Given the description of an element on the screen output the (x, y) to click on. 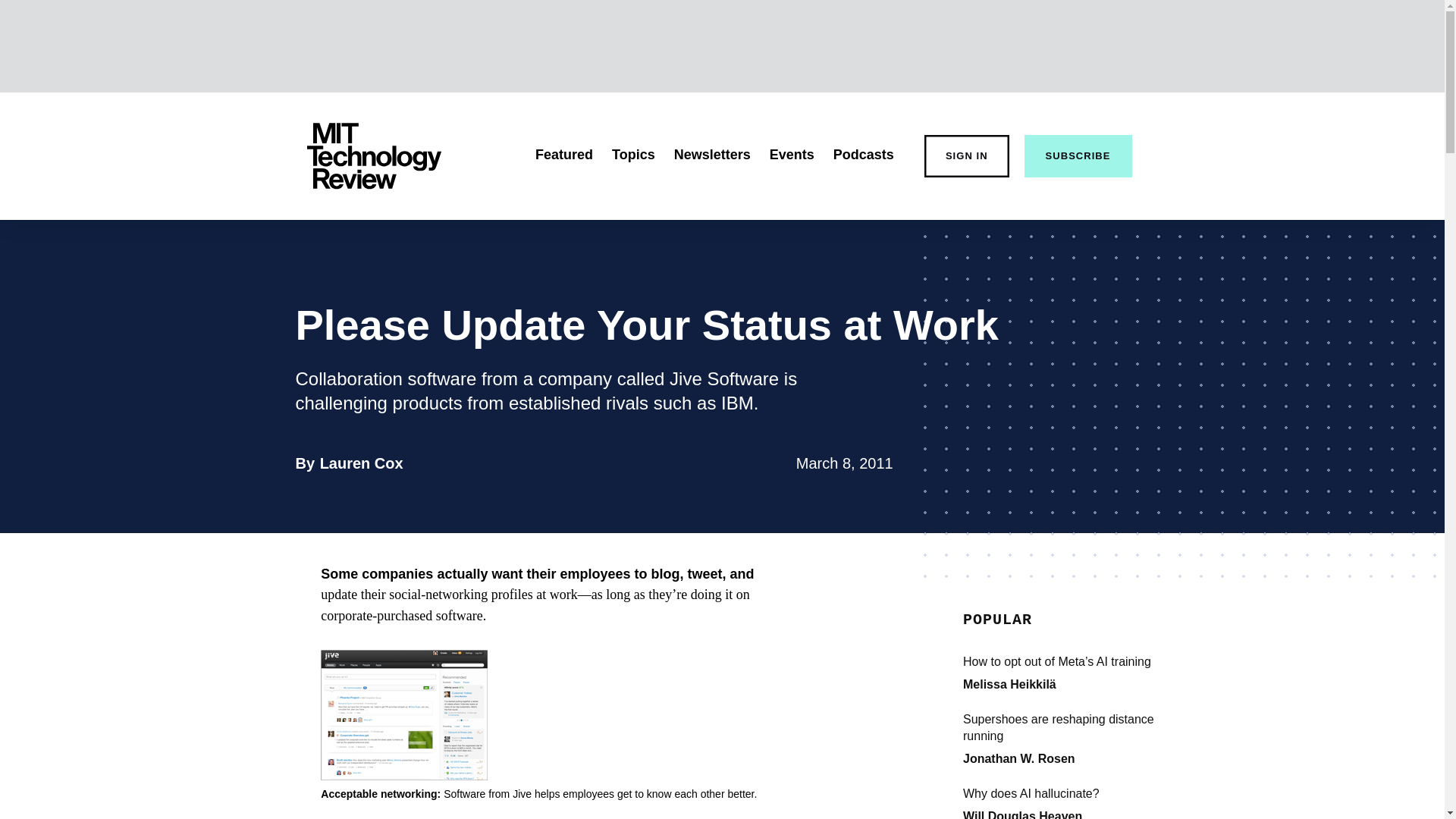
Events (791, 154)
Supershoes are reshaping distance running (1075, 727)
Topics (633, 154)
Will Douglas Heaven (1021, 814)
Podcasts (862, 154)
Newsletters (712, 154)
SIGN IN (966, 156)
Jonathan W. Rosen (1018, 758)
Featured (563, 154)
MIT Technology Review (373, 155)
SUBSCRIBE (1078, 156)
Why does AI hallucinate? (361, 463)
